Given the description of an element on the screen output the (x, y) to click on. 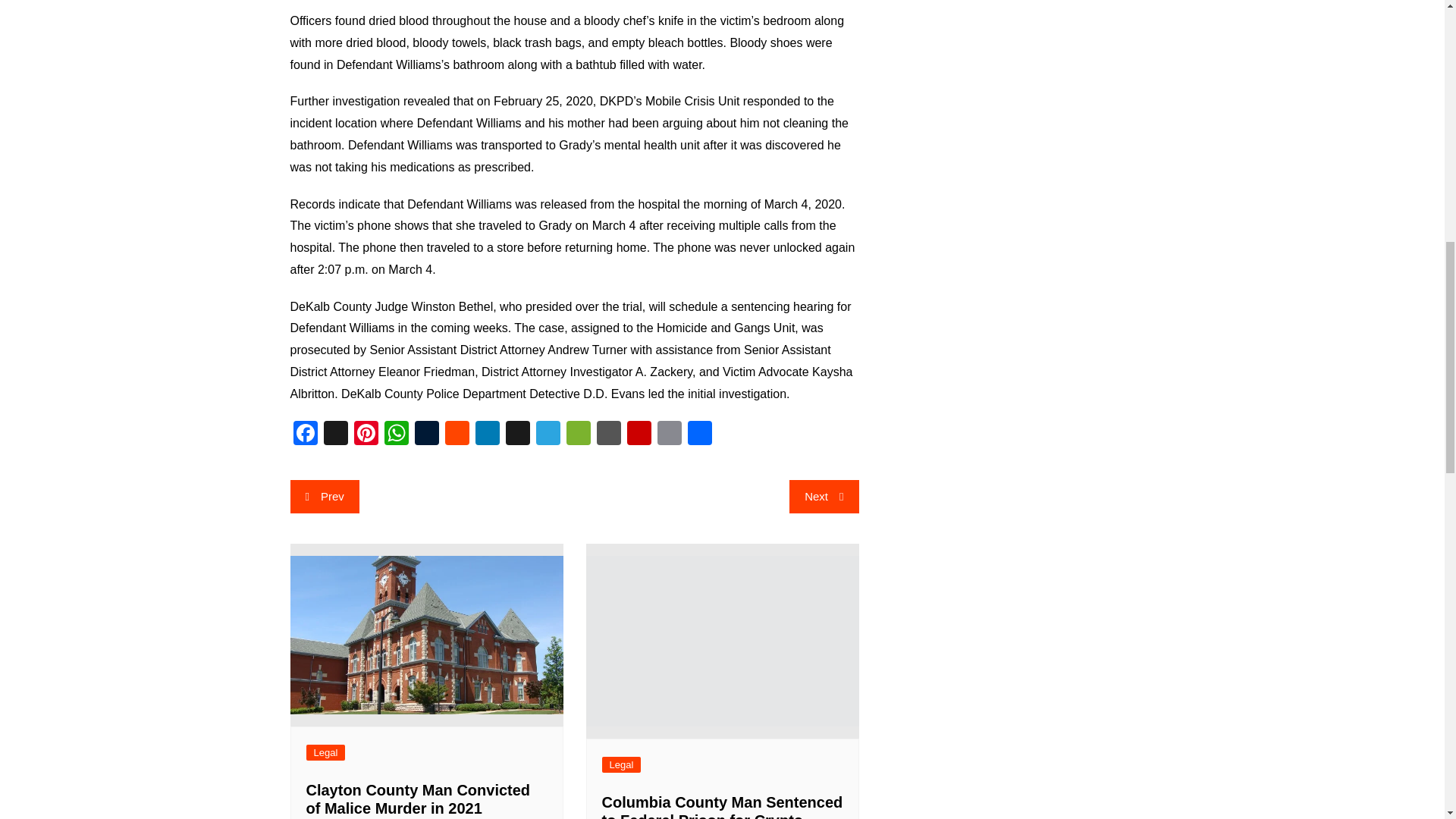
WhatsApp (395, 434)
Snapchat (517, 434)
WhatsApp (395, 434)
X (335, 434)
Fark (607, 434)
Facebook (304, 434)
WeChat (577, 434)
Reddit (456, 434)
Flipboard (638, 434)
X (335, 434)
Telegram (547, 434)
LinkedIn (486, 434)
Pinterest (365, 434)
Pinterest (365, 434)
Facebook (304, 434)
